Given the description of an element on the screen output the (x, y) to click on. 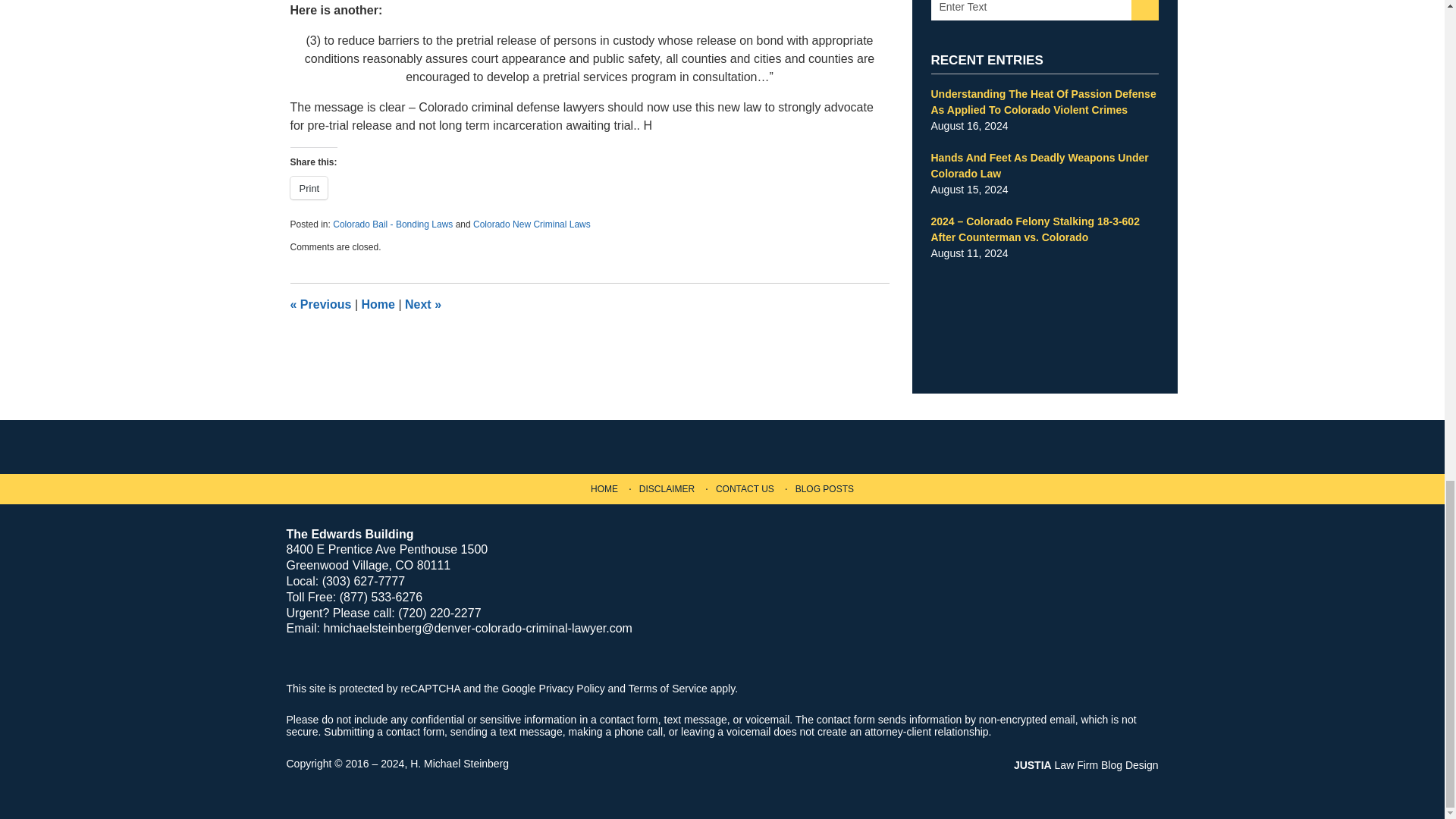
Click to print (308, 187)
Home (377, 304)
Colorado New Criminal Laws (532, 224)
View all posts in Colorado Bail - Bonding Laws (392, 224)
View all posts in Colorado New Criminal Laws (532, 224)
Colorado Bail - Bonding Laws (392, 224)
Print (308, 187)
